Given the description of an element on the screen output the (x, y) to click on. 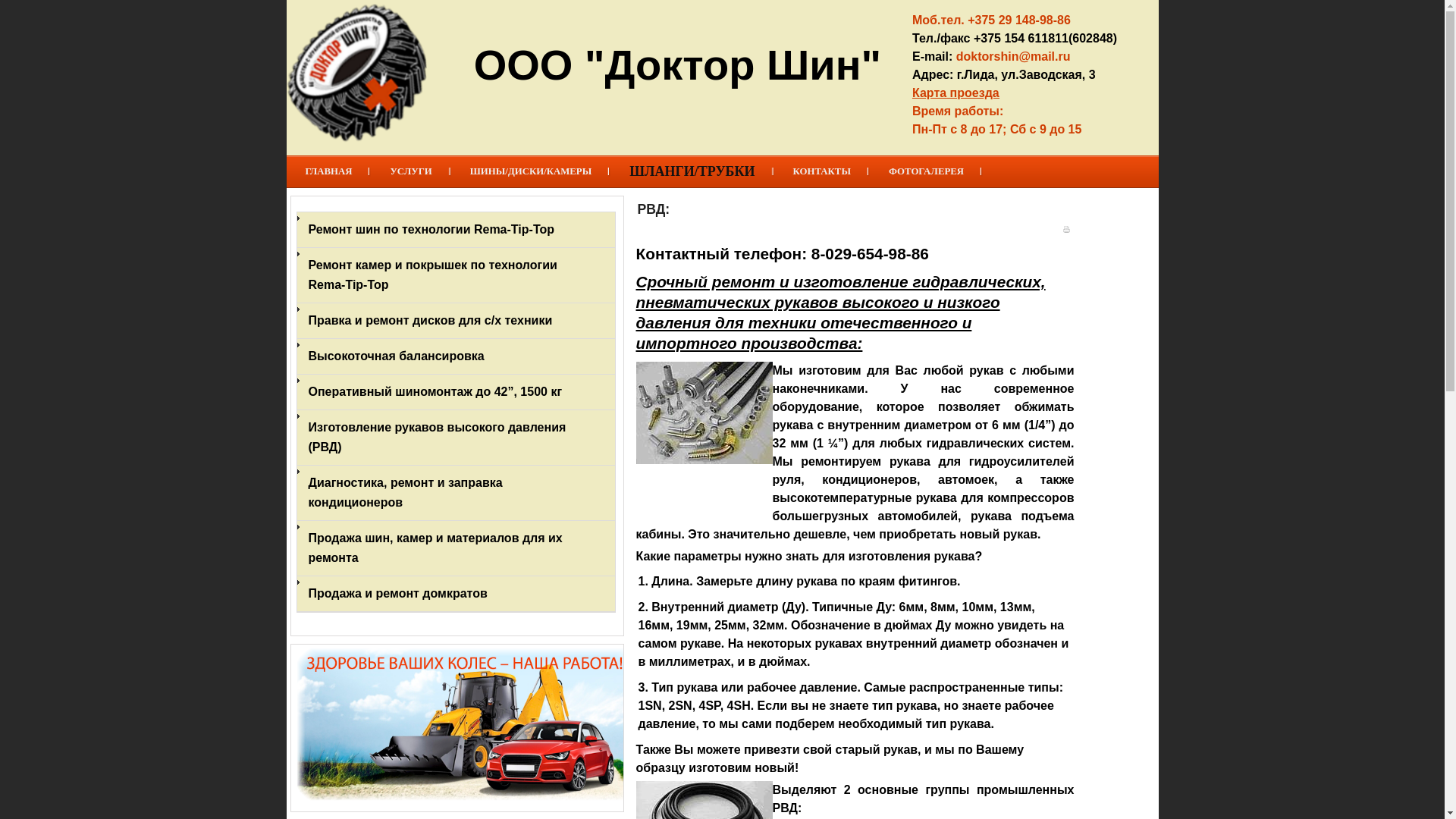
doktorshin@mail.ru Element type: text (1013, 56)
